Given the description of an element on the screen output the (x, y) to click on. 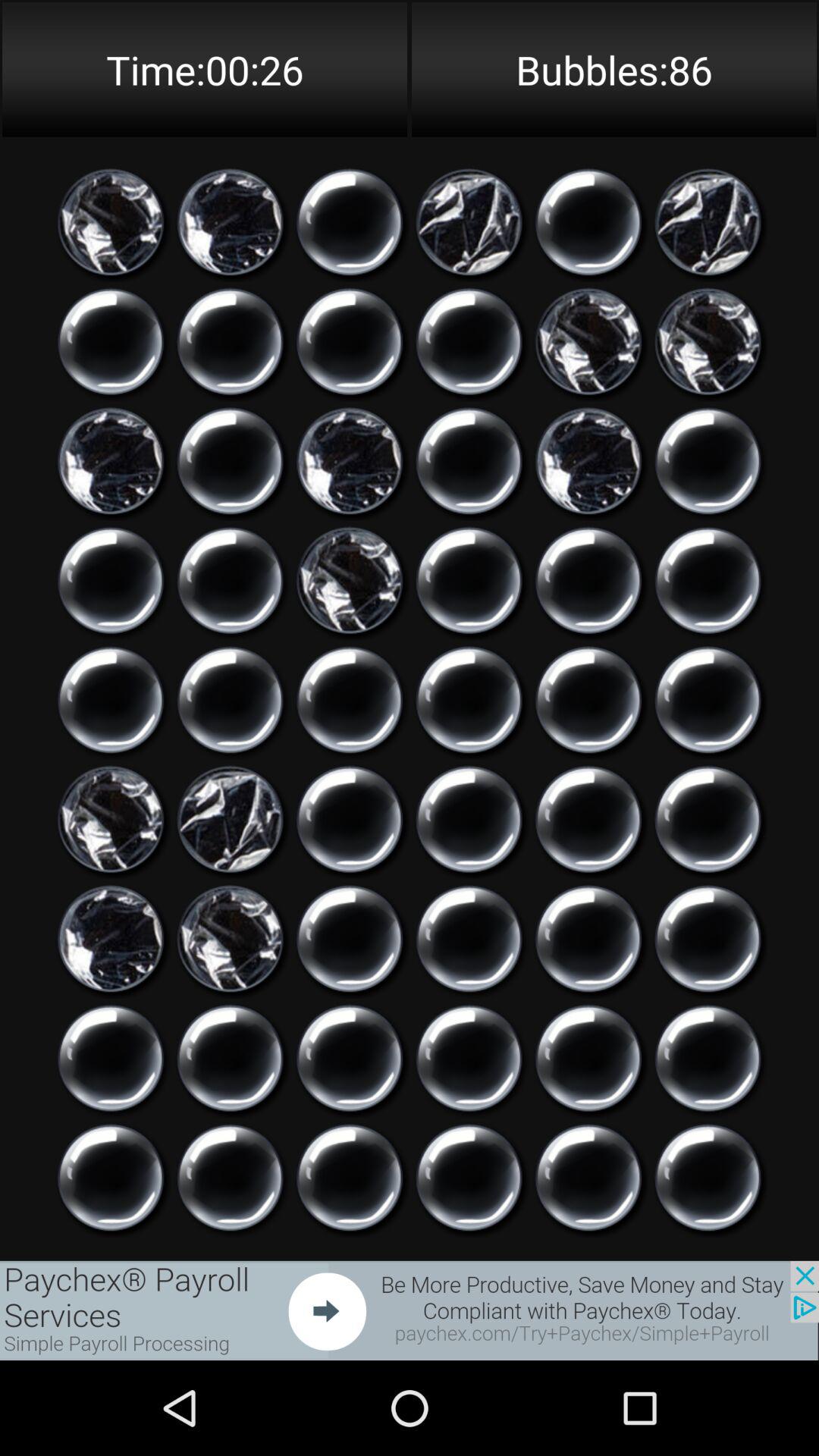
pop this bubble (468, 699)
